Given the description of an element on the screen output the (x, y) to click on. 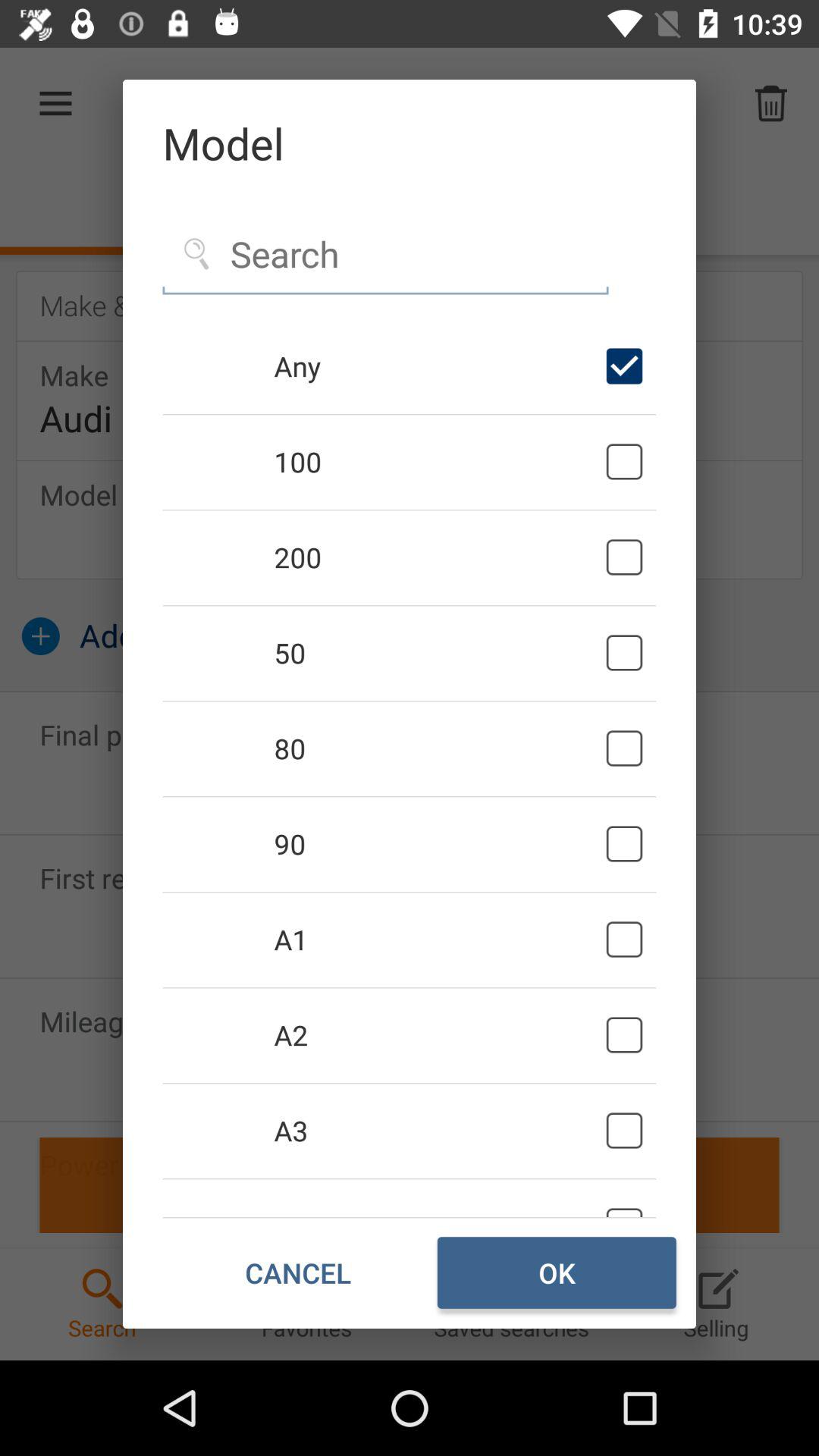
turn off 50 icon (437, 652)
